Given the description of an element on the screen output the (x, y) to click on. 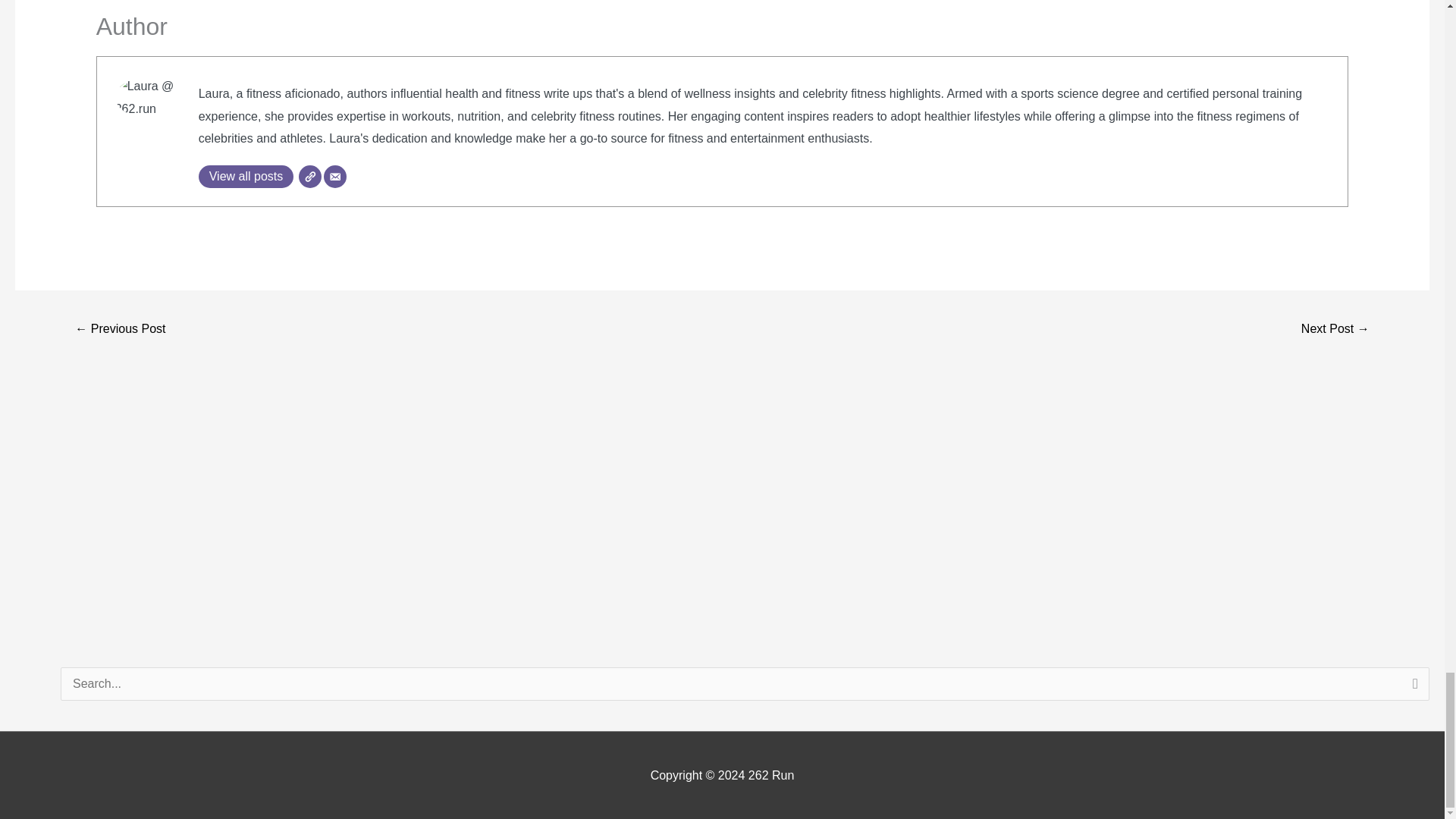
What Did Chiquis Do To Lose Weight (119, 329)
View all posts (246, 176)
View all posts (246, 176)
Amanda From Summer House Weight Loss (1334, 329)
